Given the description of an element on the screen output the (x, y) to click on. 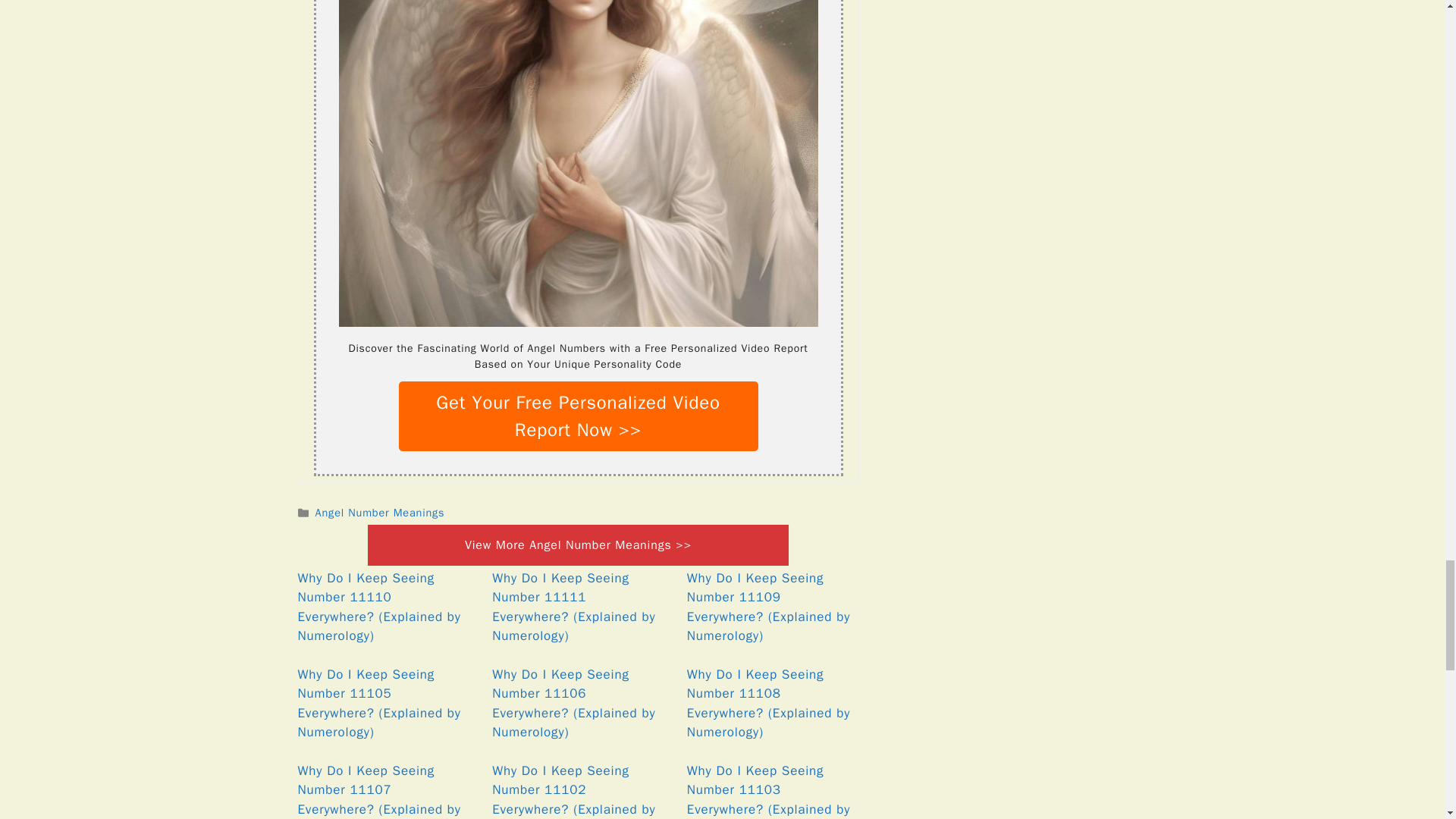
Angel Number Meanings (380, 512)
